Given the description of an element on the screen output the (x, y) to click on. 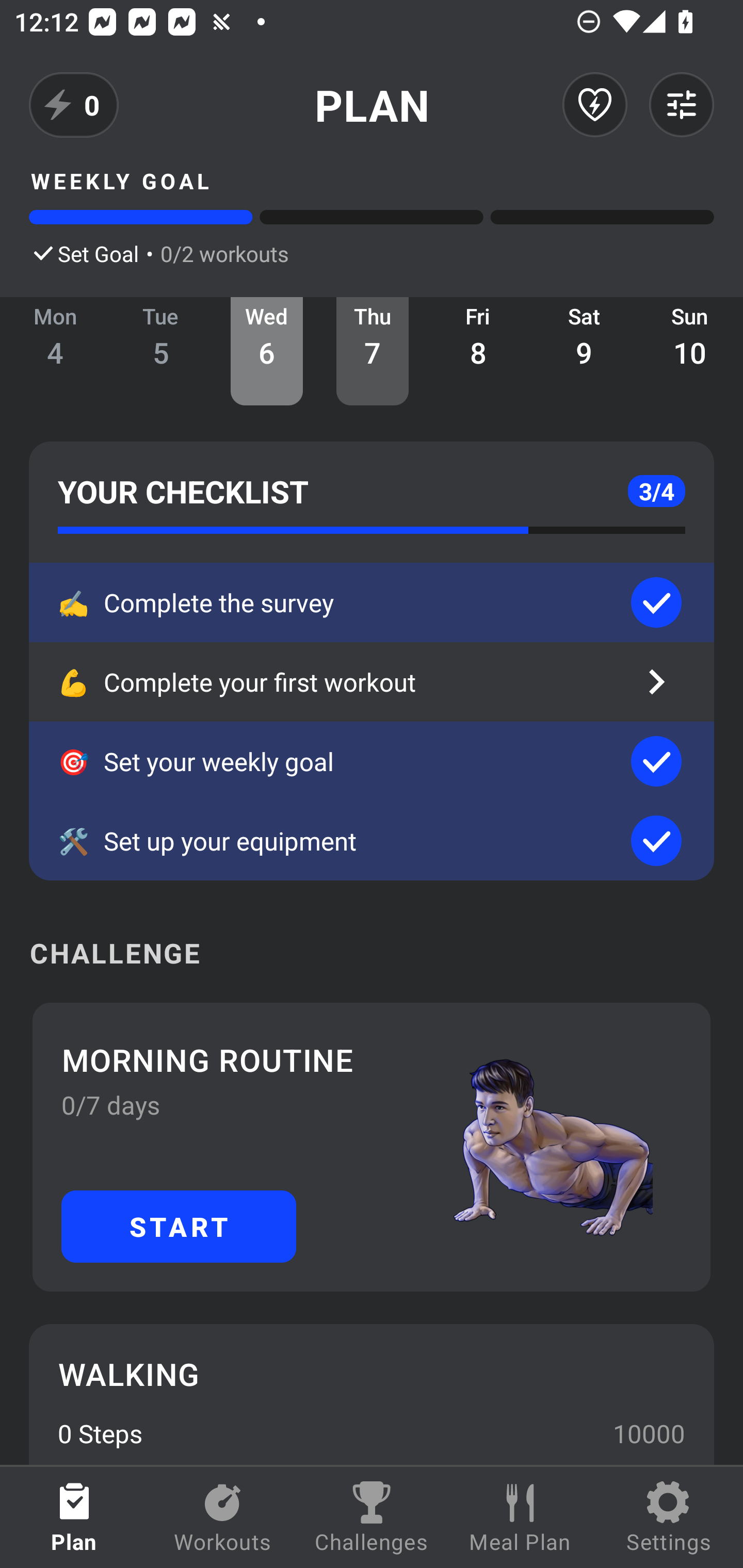
0 (73, 104)
Mon 4 (55, 351)
Tue 5 (160, 351)
Wed 6 (266, 351)
Thu 7 (372, 351)
Fri 8 (478, 351)
Sat 9 (584, 351)
Sun 10 (690, 351)
💪 Complete your first workout (371, 681)
MORNING ROUTINE 0/7 days START (371, 1146)
START (178, 1226)
WALKING 0 Steps 10000 (371, 1393)
 Workouts  (222, 1517)
 Challenges  (371, 1517)
 Meal Plan  (519, 1517)
 Settings  (668, 1517)
